Given the description of an element on the screen output the (x, y) to click on. 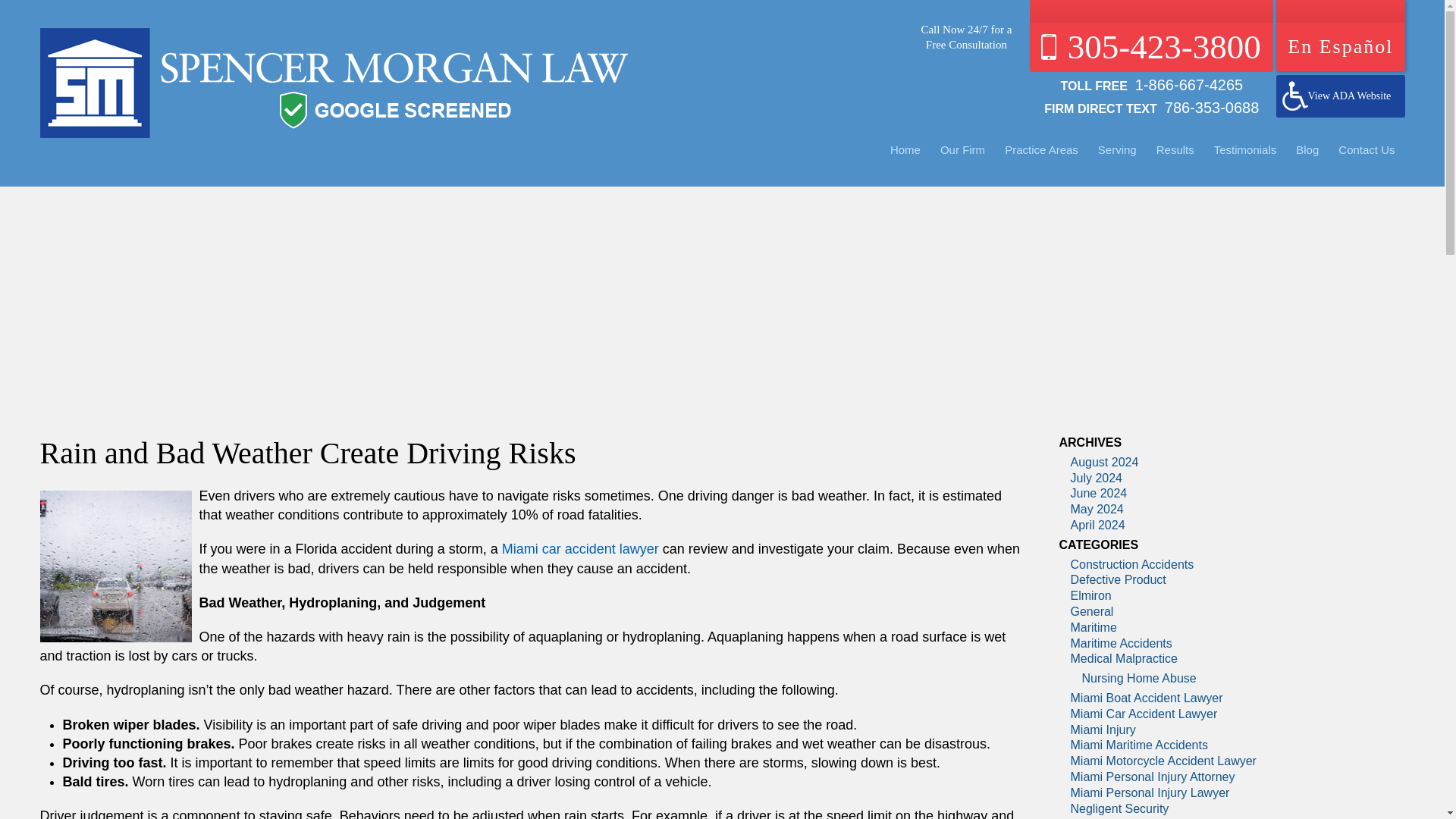
305-423-3800 (1150, 36)
786-353-0688 (1208, 106)
Practice Areas (1040, 149)
View ADA Website (1340, 96)
1-866-667-4265 (1184, 84)
Home (905, 149)
Miami Personal Injury Lawyer (333, 82)
Our Firm (962, 149)
